Given the description of an element on the screen output the (x, y) to click on. 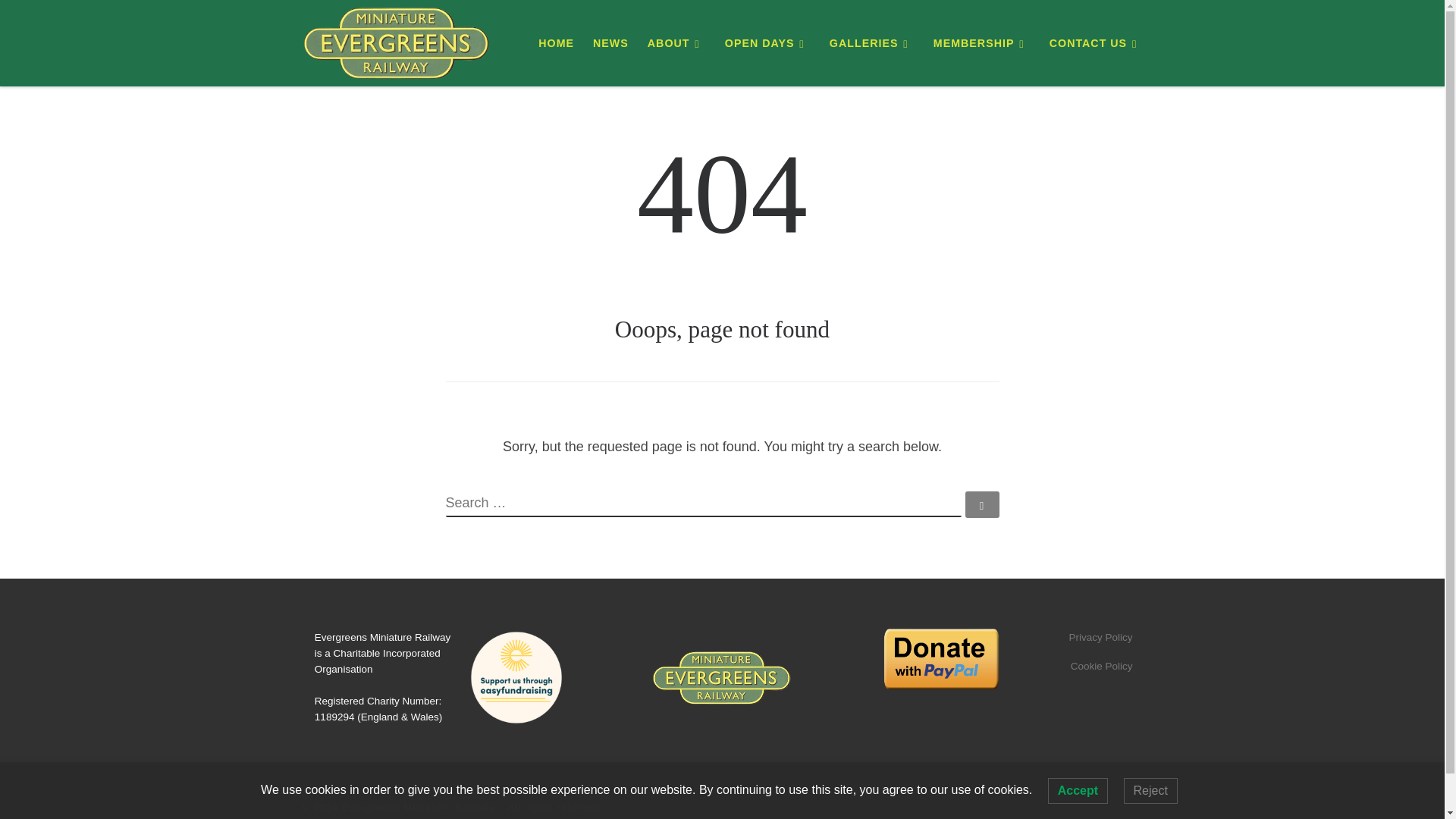
HOME (556, 42)
NEWS (610, 42)
GALLERIES (871, 42)
MEMBERSHIP (981, 42)
ABOUT (677, 42)
OPEN DAYS (767, 42)
Evergreens Miniature Railway (418, 807)
CONTACT US (1096, 42)
Skip to content (60, 20)
